Given the description of an element on the screen output the (x, y) to click on. 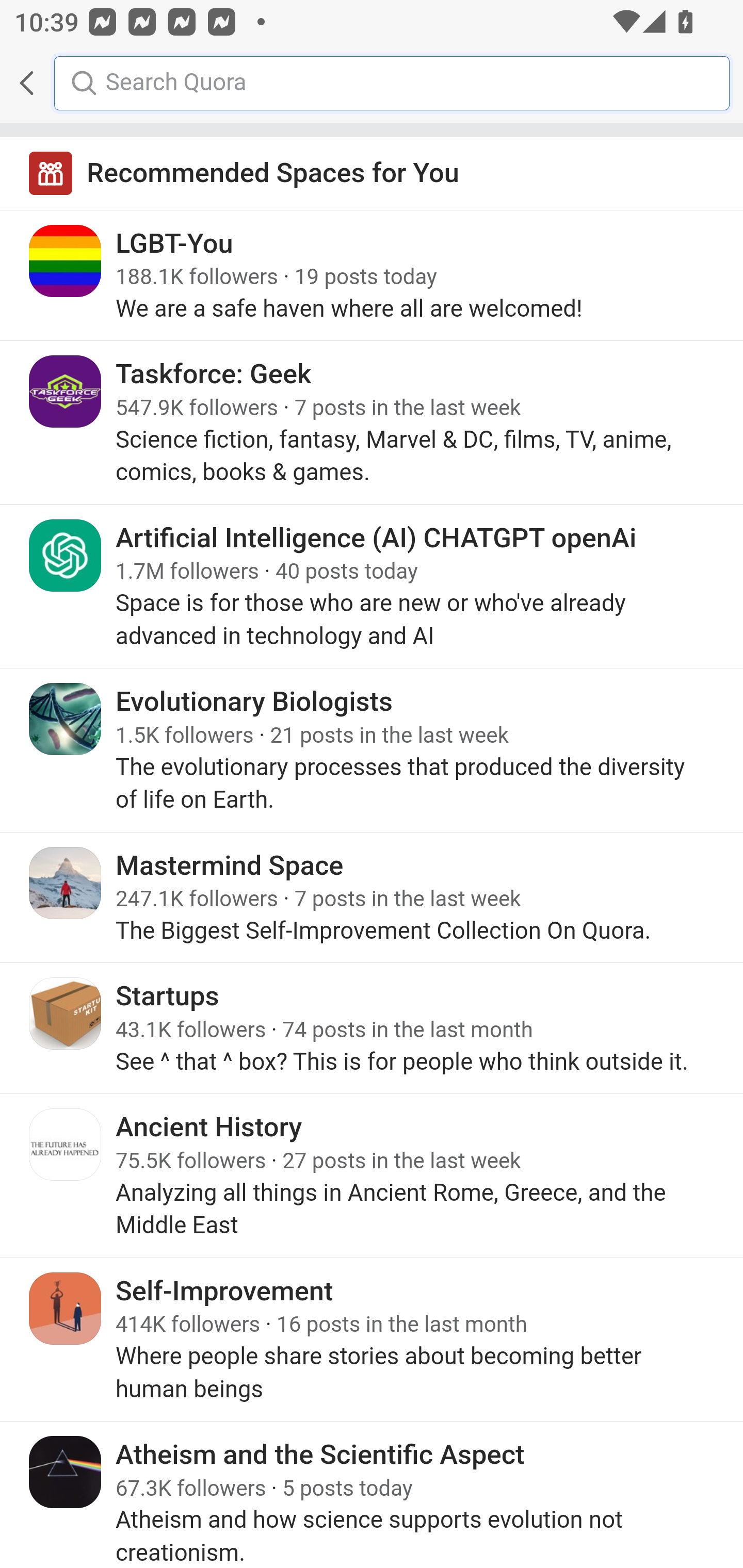
Me Home Search Add (371, 82)
Icon for LGBT-You (65, 260)
Icon for Taskforce: Geek (65, 391)
Icon for Evolutionary Biologists (65, 718)
Icon for Mastermind Space (65, 882)
Icon for Startups (65, 1013)
Icon for Ancient History (65, 1145)
Icon for Self-Improvement (65, 1308)
Icon for Atheism and the Scientific Aspect (65, 1471)
